Given the description of an element on the screen output the (x, y) to click on. 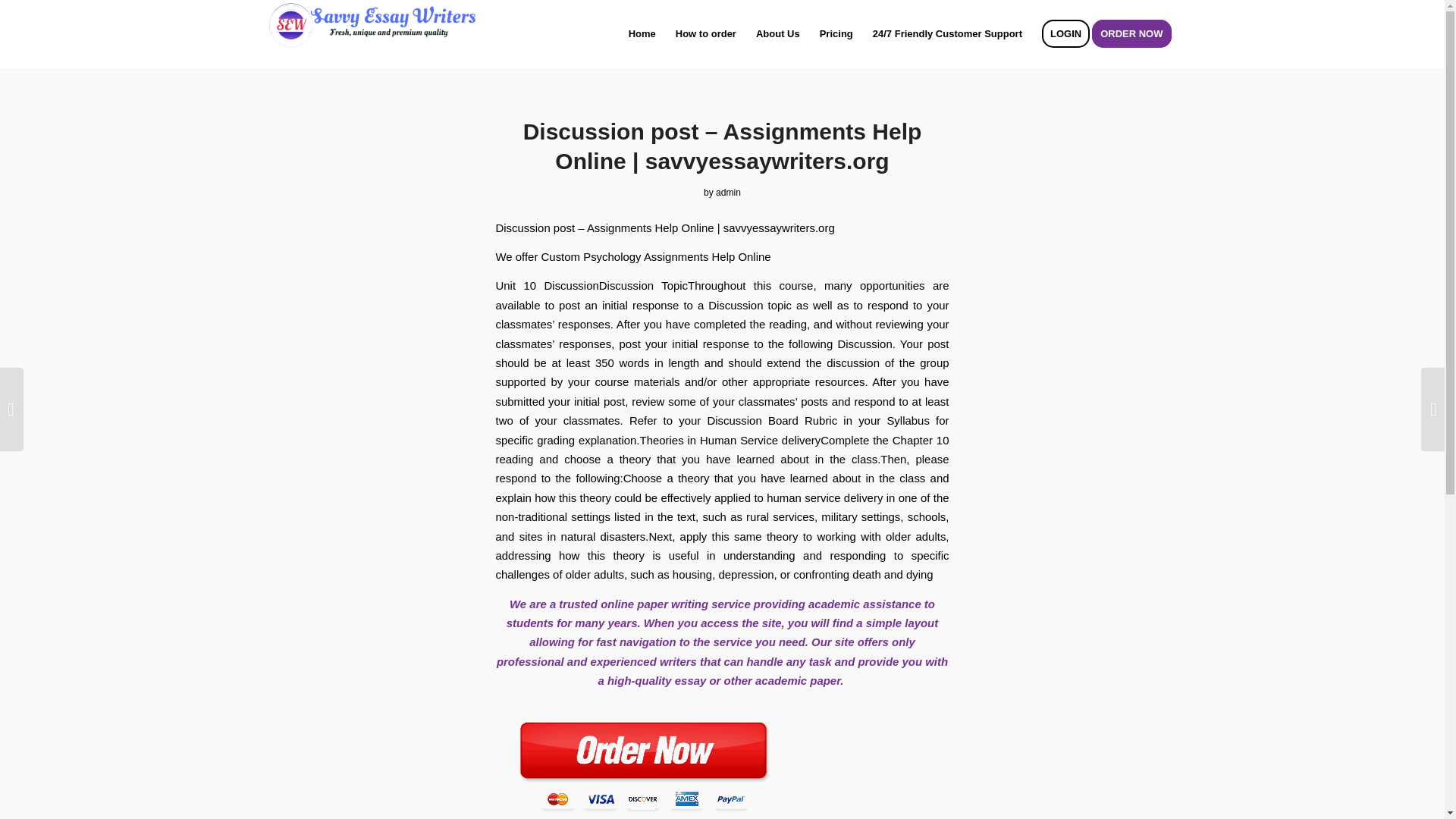
Posts by admin (728, 192)
Home (641, 33)
high-quality essay (656, 680)
many years (606, 622)
fast navigation (634, 641)
admin (728, 192)
academic assistance (864, 603)
About Us (777, 33)
ORDER NOW (1136, 33)
online paper (633, 603)
LOGIN (1065, 33)
Pricing (836, 33)
How to order (705, 33)
experienced writers (644, 661)
